Given the description of an element on the screen output the (x, y) to click on. 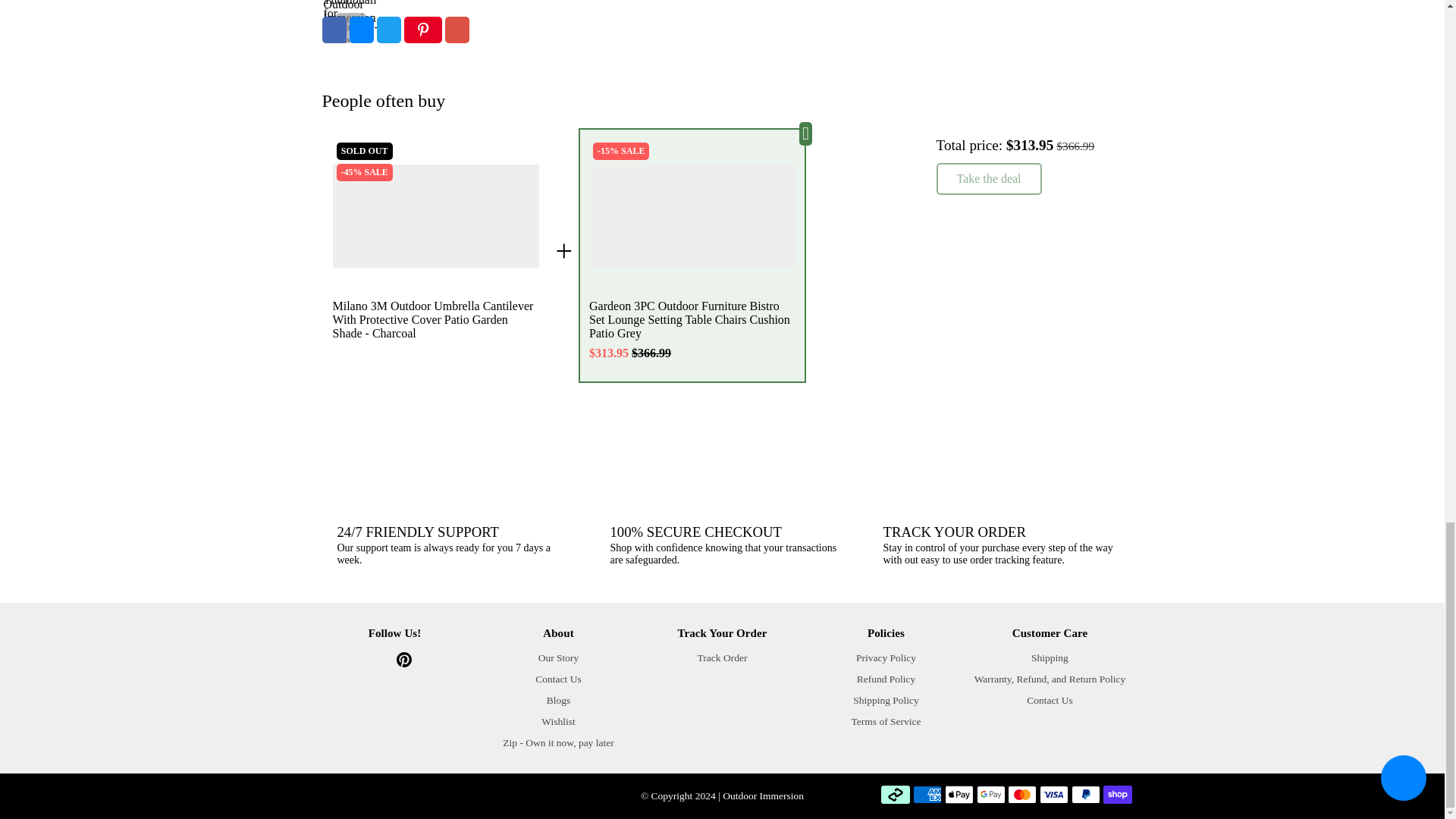
PayPal (1085, 794)
Apple Pay (959, 794)
Visa (1053, 794)
American Express (927, 794)
Mastercard (1021, 794)
Google Pay (991, 794)
Afterpay (895, 794)
Shop Pay (1116, 794)
